Given the description of an element on the screen output the (x, y) to click on. 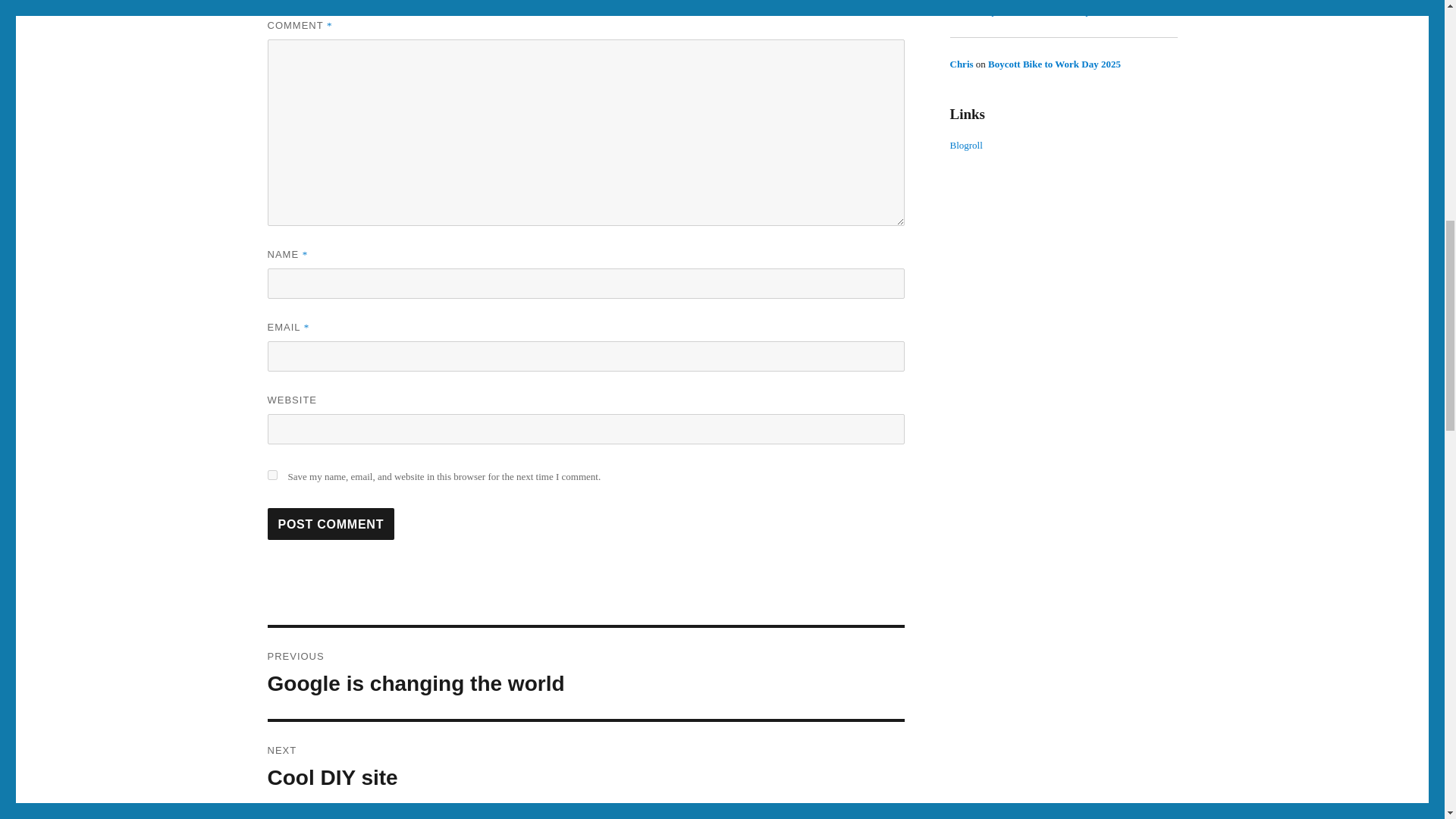
Post Comment (330, 523)
Post Comment (330, 523)
yes (585, 673)
